Given the description of an element on the screen output the (x, y) to click on. 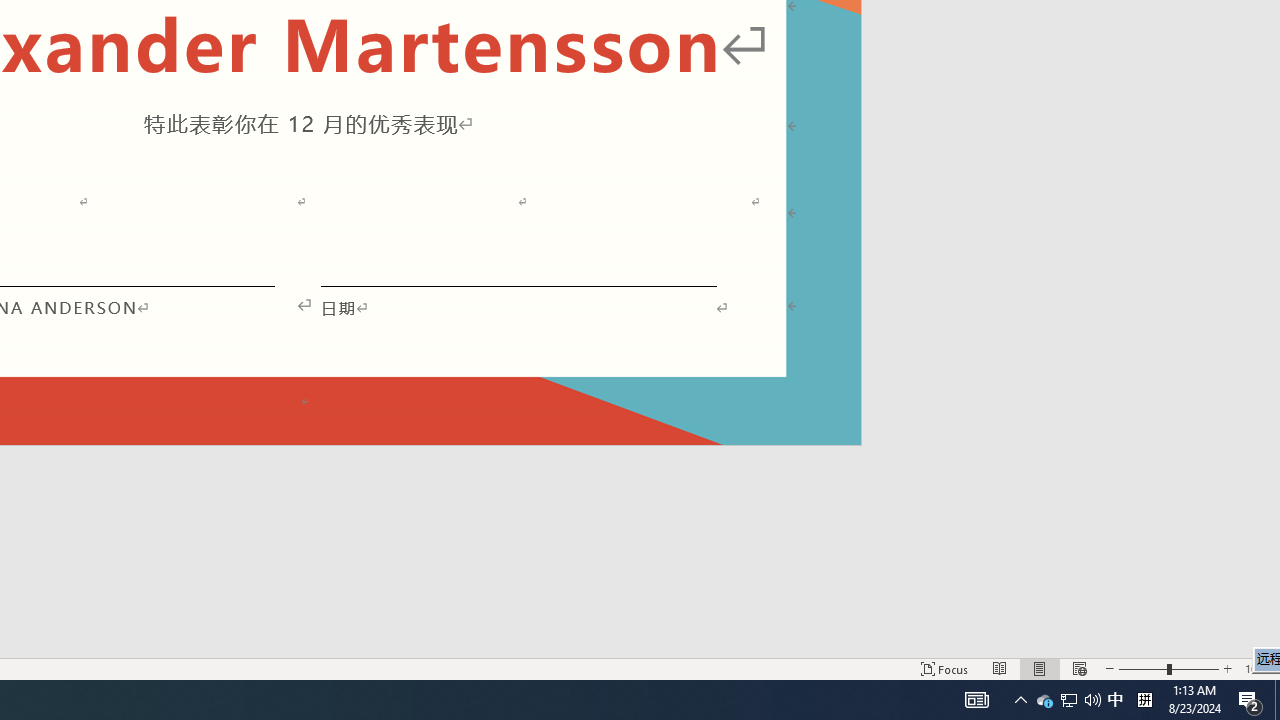
Zoom (1168, 668)
Zoom 100% (1258, 668)
